Given the description of an element on the screen output the (x, y) to click on. 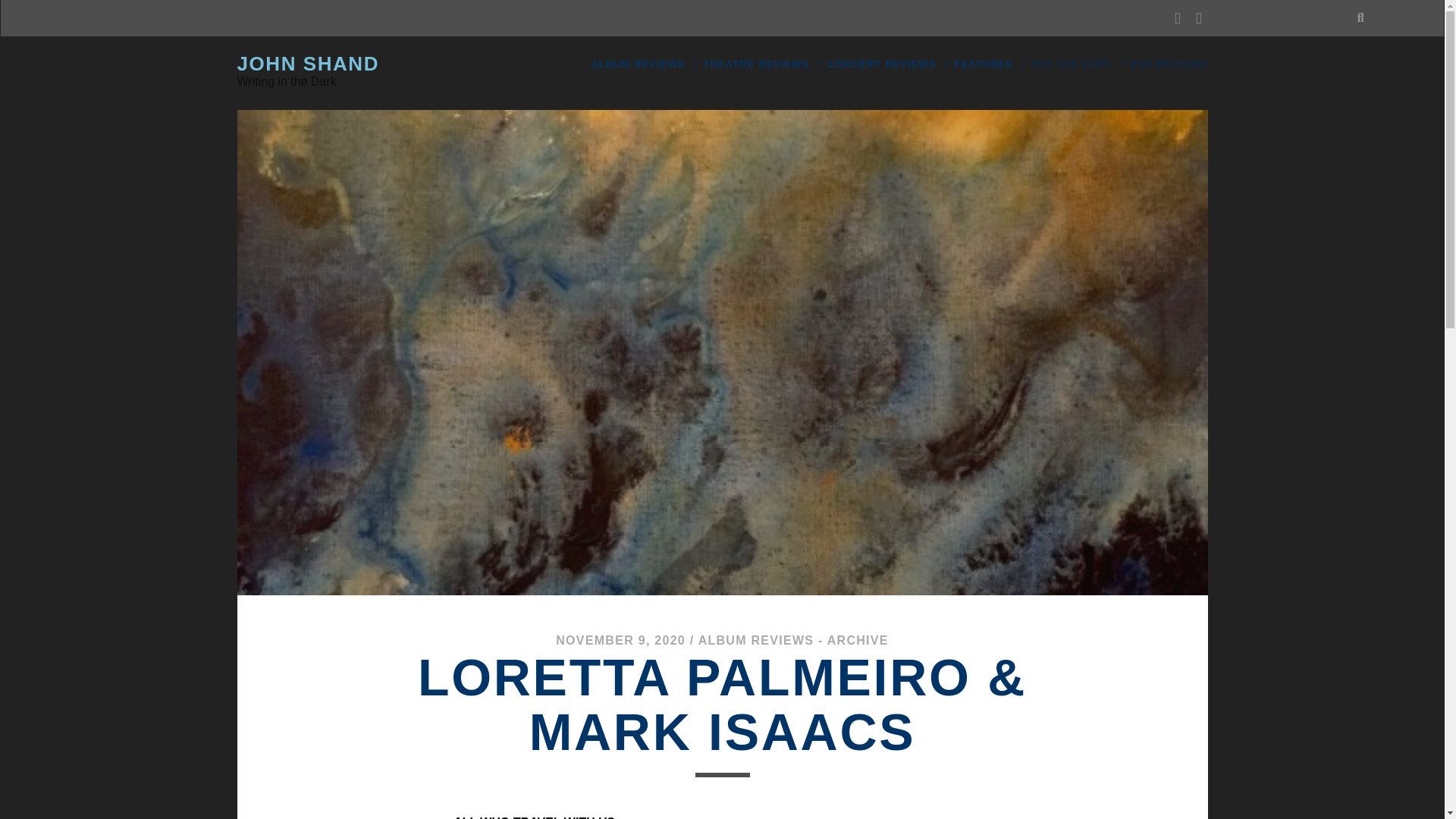
DVD REVIEWS (1168, 64)
THEATRE REVIEWS (756, 64)
OFF THE CUFF (1071, 64)
CONCERT REVIEWS (881, 64)
ALBUM REVIEWS (637, 64)
ALBUM REVIEWS - ARCHIVE (793, 640)
FEATURES (982, 64)
JOHN SHAND (306, 63)
